Given the description of an element on the screen output the (x, y) to click on. 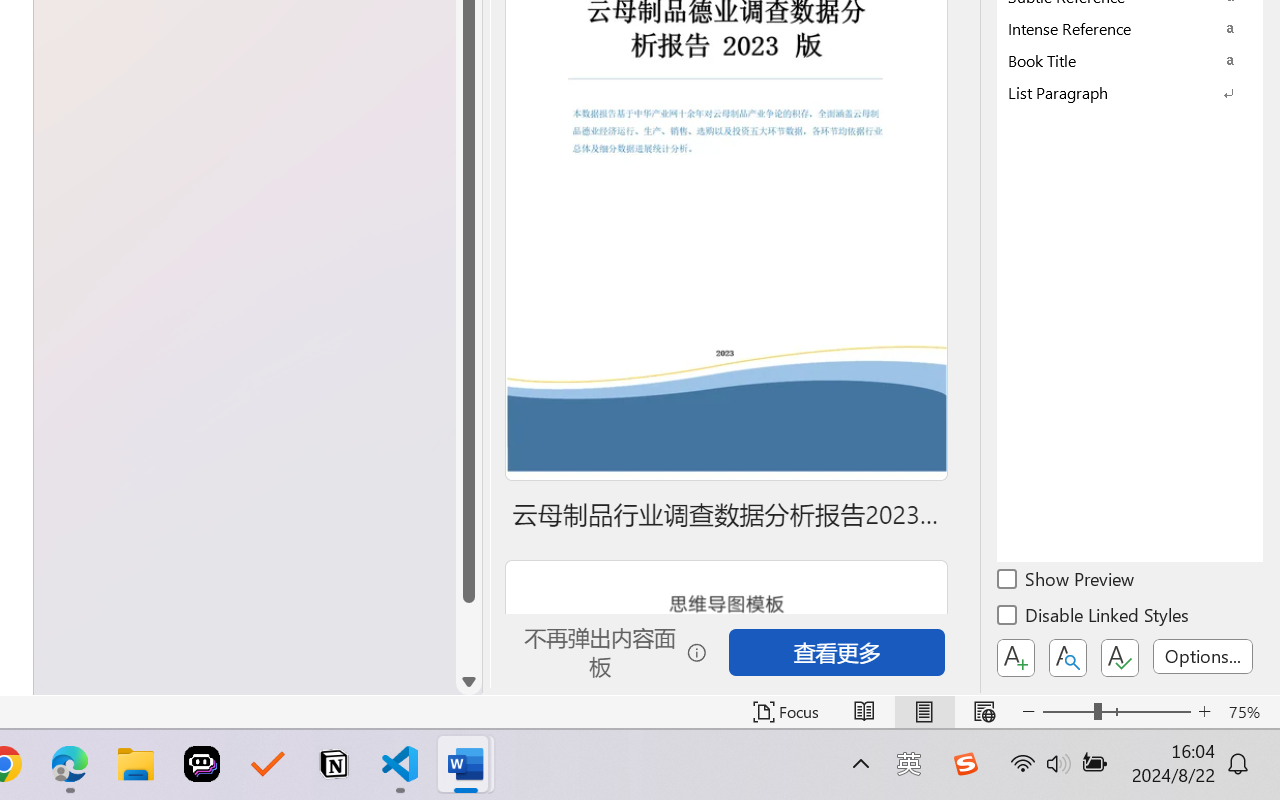
Class: NetUIImage (1116, 92)
Focus  (786, 712)
Page down (468, 635)
Zoom Out (1067, 712)
Class: NetUIButton (1119, 657)
